Given the description of an element on the screen output the (x, y) to click on. 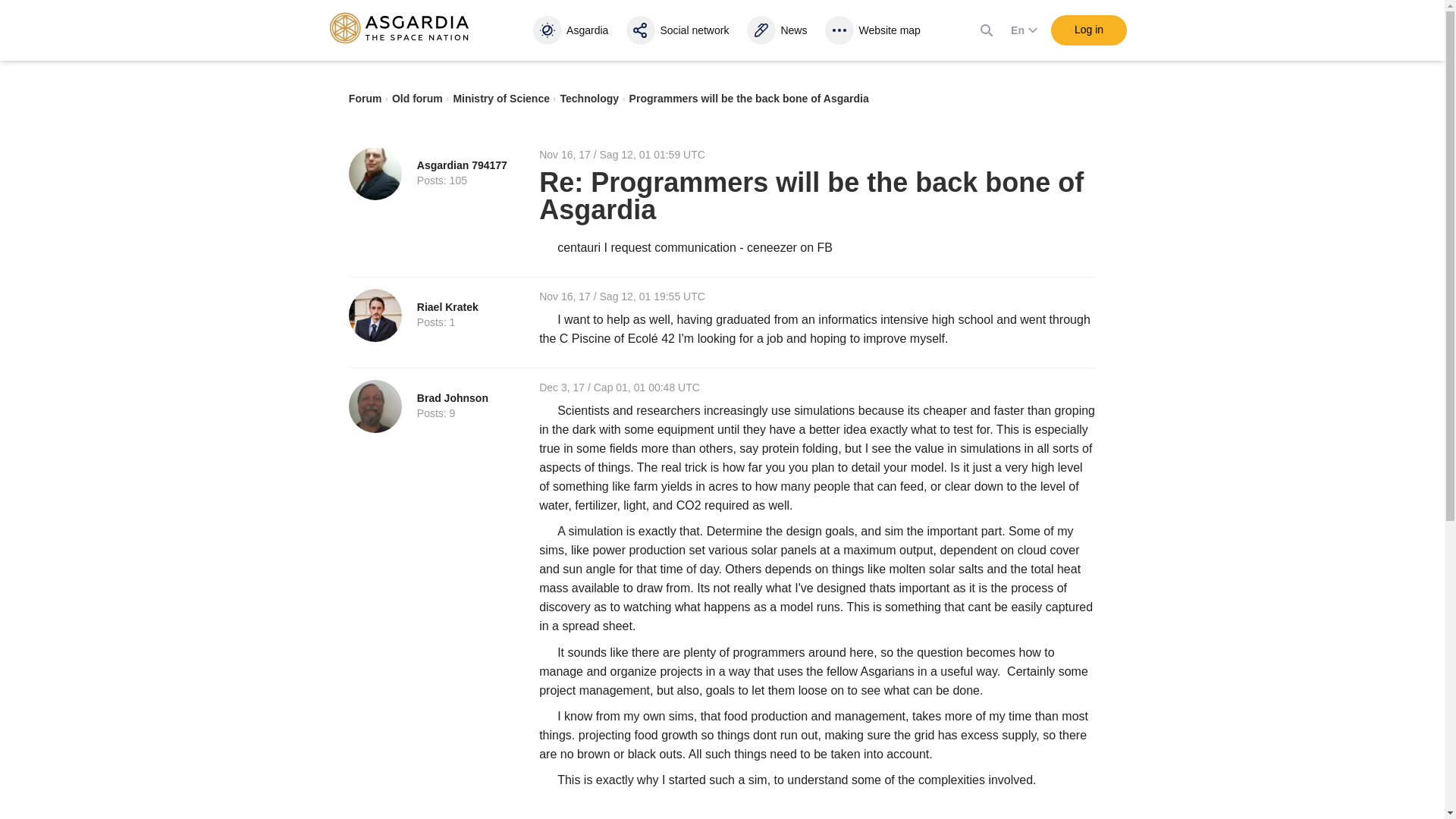
Website map (874, 30)
News (778, 30)
En (1018, 30)
Log in (1088, 30)
Asgardia (572, 30)
More (874, 30)
Social network (679, 30)
Asgardia (572, 30)
Social (679, 30)
News (778, 30)
